Given the description of an element on the screen output the (x, y) to click on. 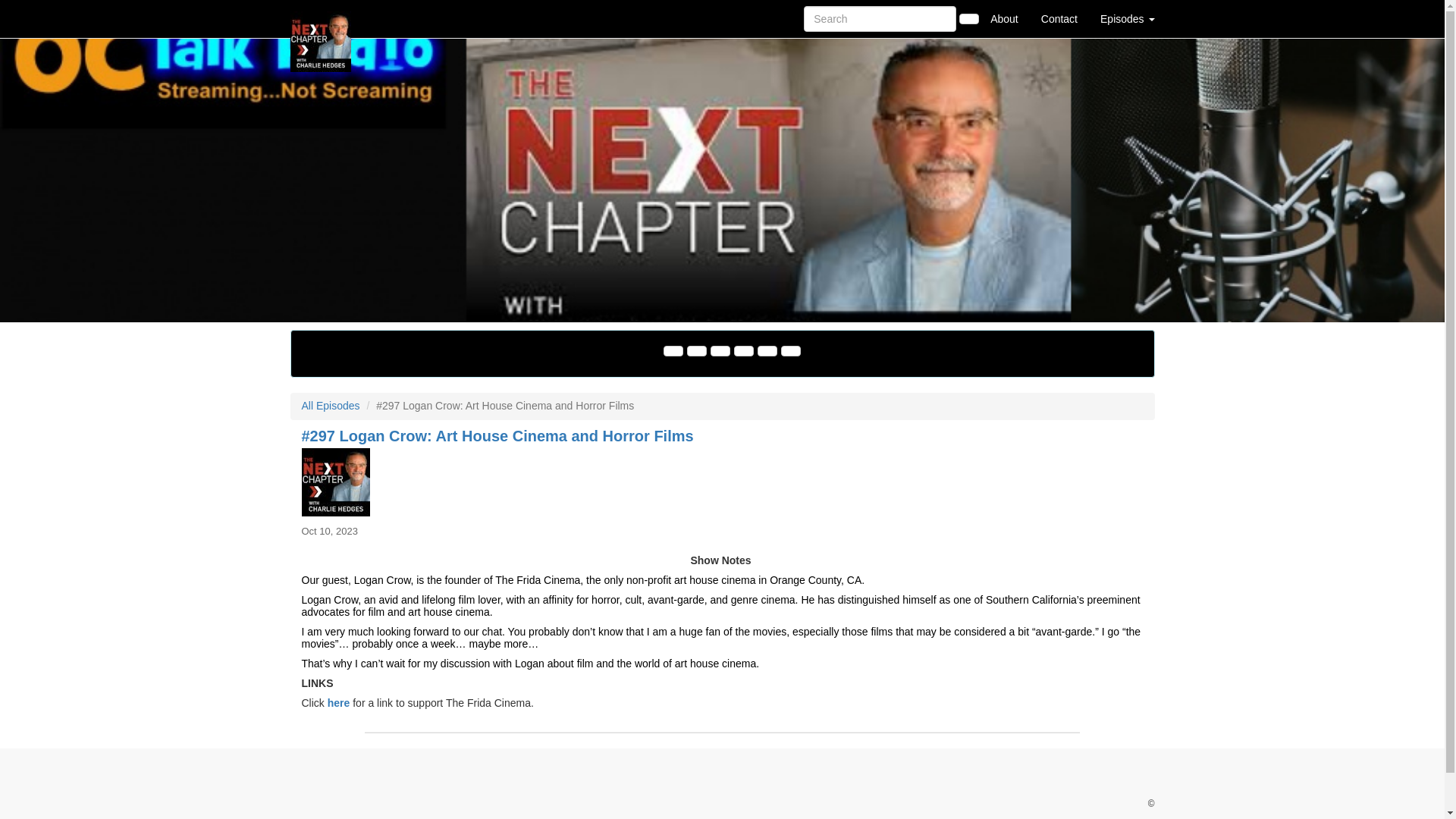
Episodes (1127, 18)
Home Page (320, 18)
Contact (1059, 18)
About (1003, 18)
